Given the description of an element on the screen output the (x, y) to click on. 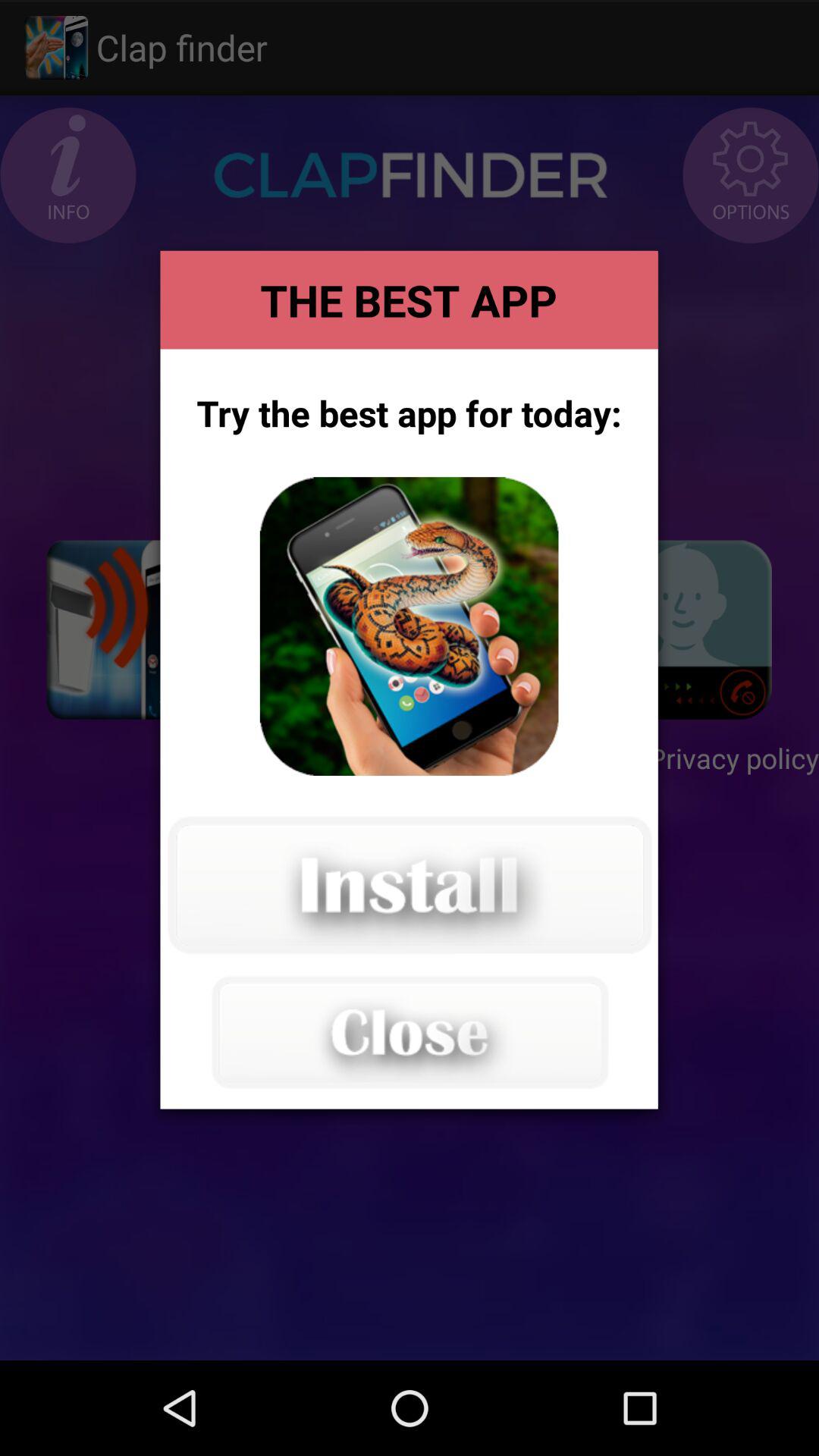
close the advertisement (409, 1031)
